Given the description of an element on the screen output the (x, y) to click on. 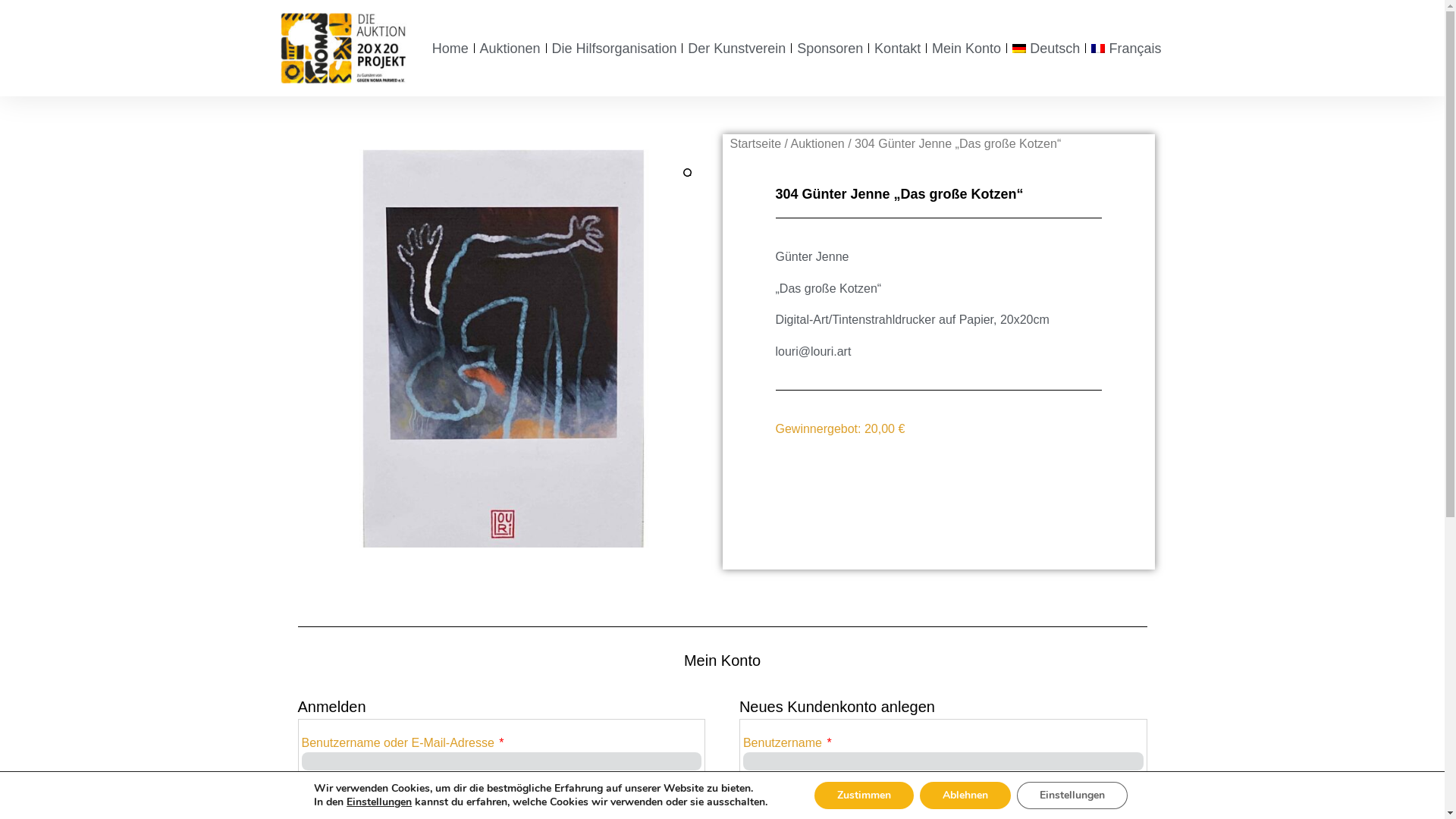
Der Kunstverein Element type: text (736, 48)
IMG_5671 - Kopie Element type: hover (505, 348)
Zustimmen Element type: text (863, 795)
Startseite Element type: text (755, 143)
Home Element type: text (449, 48)
Die Hilfsorganisation Element type: text (613, 48)
Ablehnen Element type: text (964, 795)
Sponsoren Element type: text (829, 48)
Deutsch Element type: text (1046, 48)
Einstellungen Element type: text (378, 802)
Mein Konto Element type: text (966, 48)
Kontakt Element type: text (897, 48)
Auktionen Element type: text (510, 48)
Einstellungen Element type: text (1071, 795)
Auktionen Element type: text (817, 143)
